Given the description of an element on the screen output the (x, y) to click on. 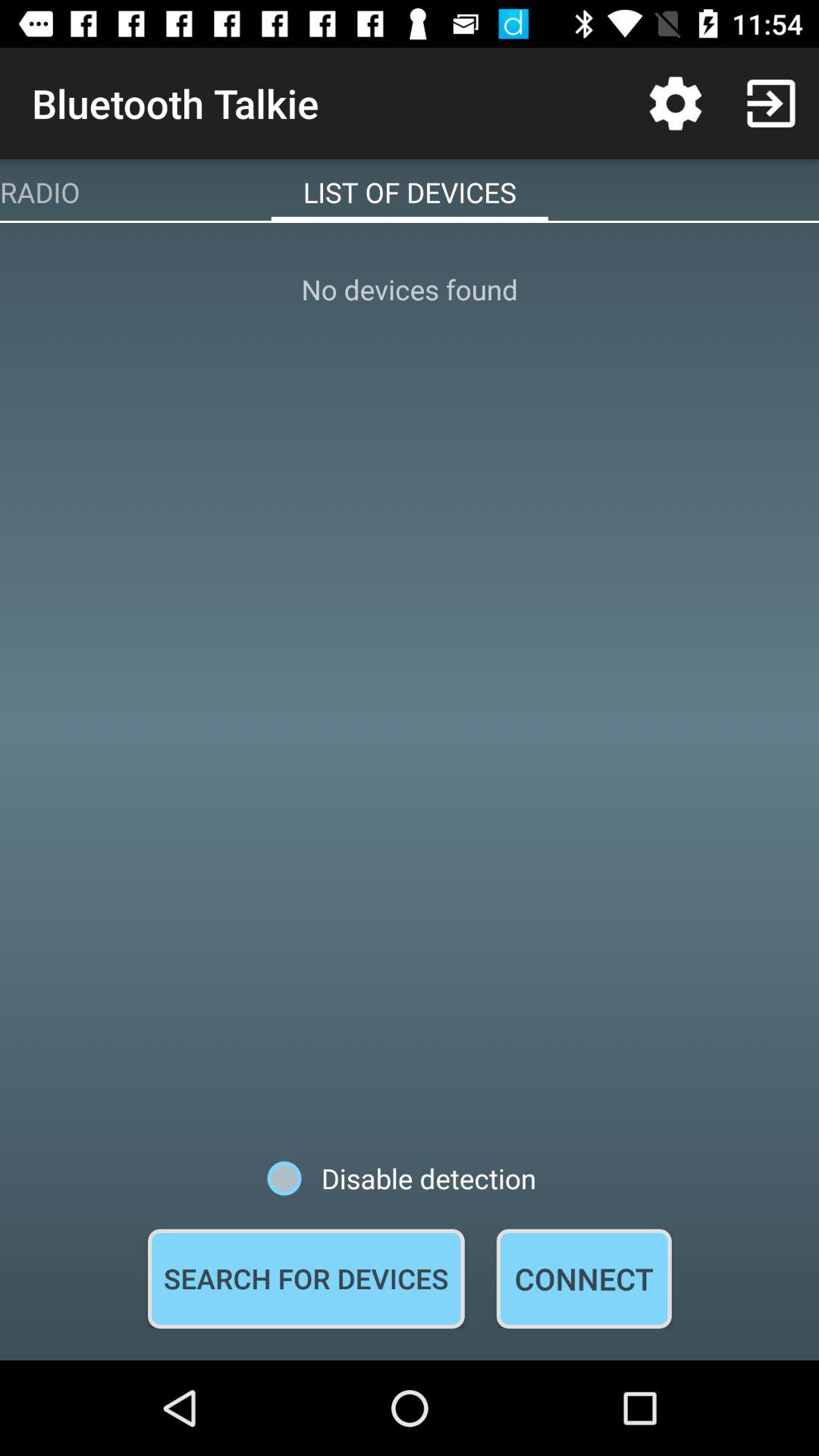
open the item next to connect (305, 1278)
